Given the description of an element on the screen output the (x, y) to click on. 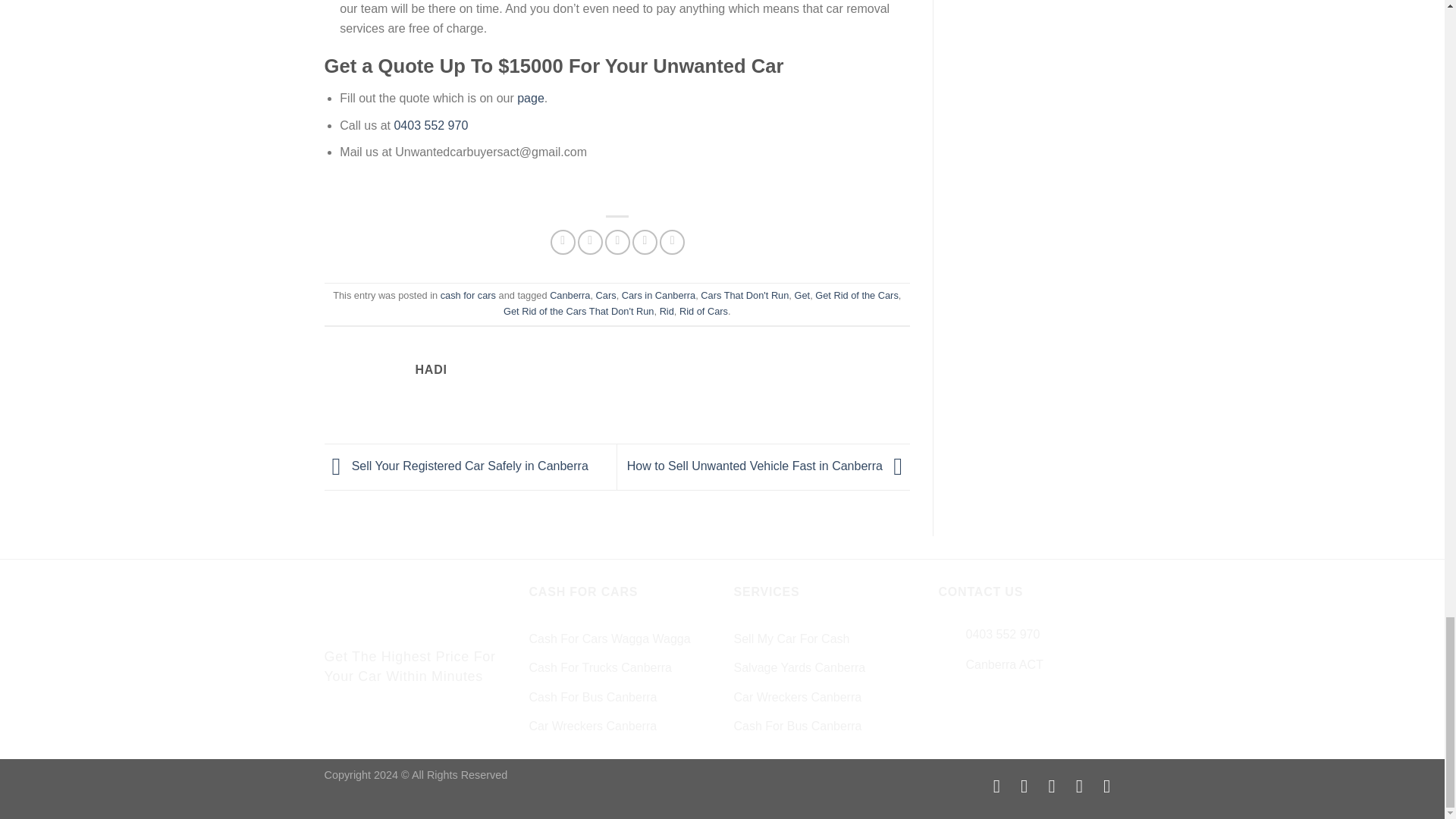
Pin on Pinterest (644, 242)
page (530, 97)
Share on Twitter (590, 242)
Share on Facebook (562, 242)
cash for cars (468, 295)
Email to a Friend (617, 242)
Follow on Facebook (996, 785)
Follow on Pinterest (1051, 785)
Share on LinkedIn (671, 242)
0403 552 970 (430, 124)
